Given the description of an element on the screen output the (x, y) to click on. 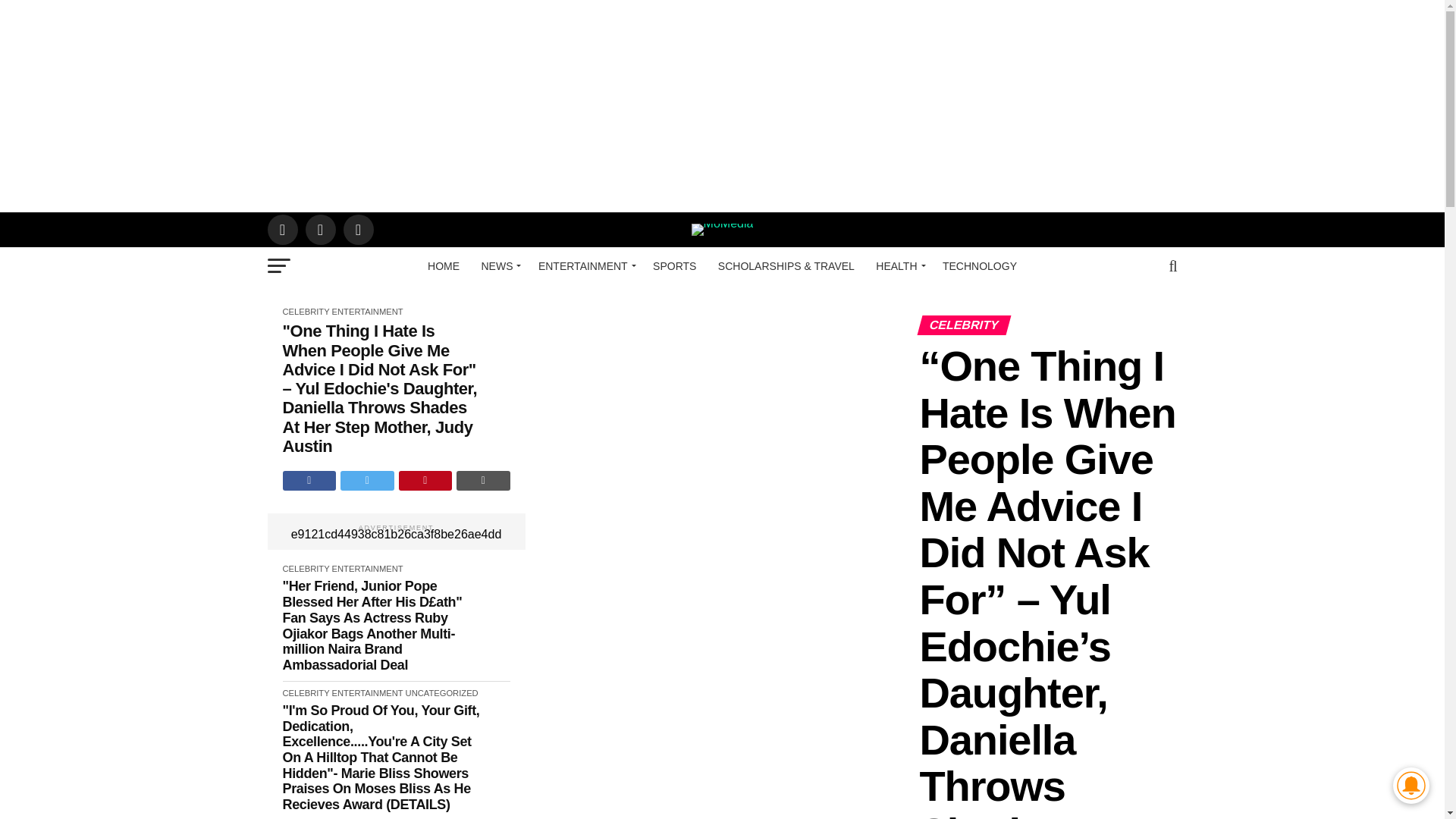
ENTERTAINMENT (584, 266)
Pin This Post (425, 480)
SPORTS (673, 266)
NEWS (498, 266)
Share on Facebook (309, 480)
HOME (443, 266)
CELEBRITY (305, 311)
Tweet This Post (367, 480)
ENTERTAINMENT (367, 311)
TECHNOLOGY (979, 266)
HEALTH (898, 266)
